Given the description of an element on the screen output the (x, y) to click on. 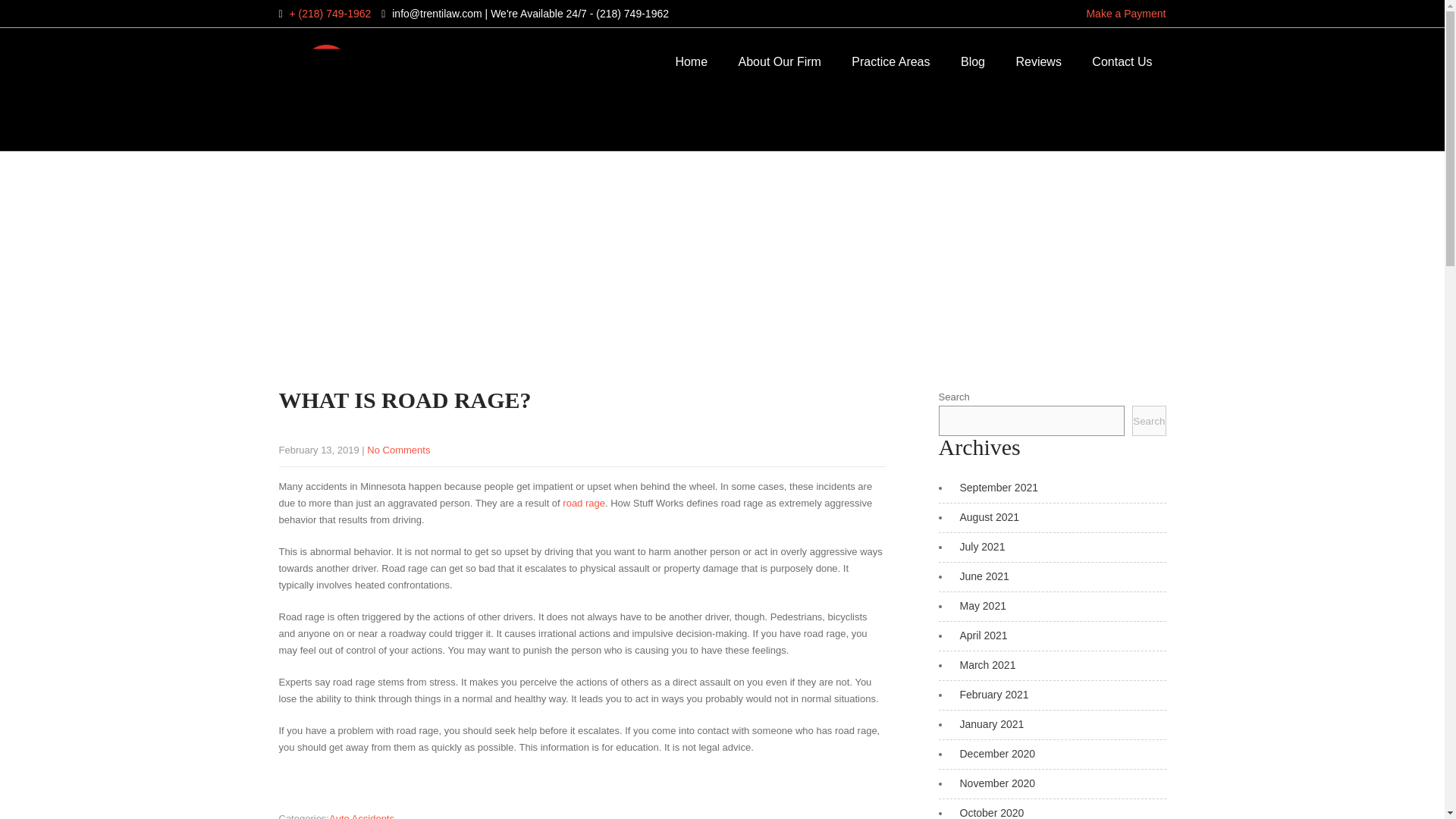
Make a Payment (1126, 13)
Contact Us (1122, 61)
February 2021 (990, 694)
January 2021 (988, 724)
May 2021 (979, 605)
About Our Firm (779, 61)
September 2021 (995, 487)
Auto Accidents (361, 816)
June 2021 (980, 576)
July 2021 (979, 546)
